Given the description of an element on the screen output the (x, y) to click on. 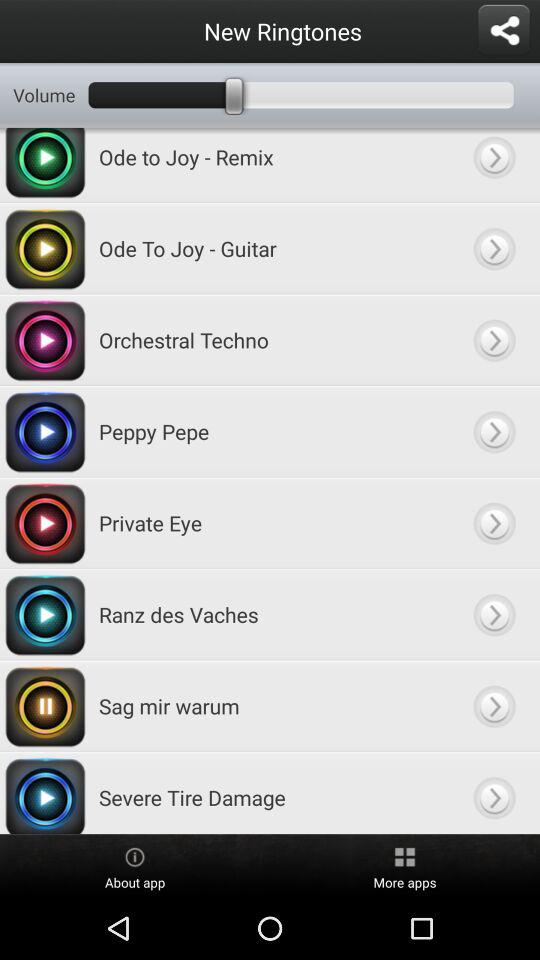
go option (494, 705)
